Given the description of an element on the screen output the (x, y) to click on. 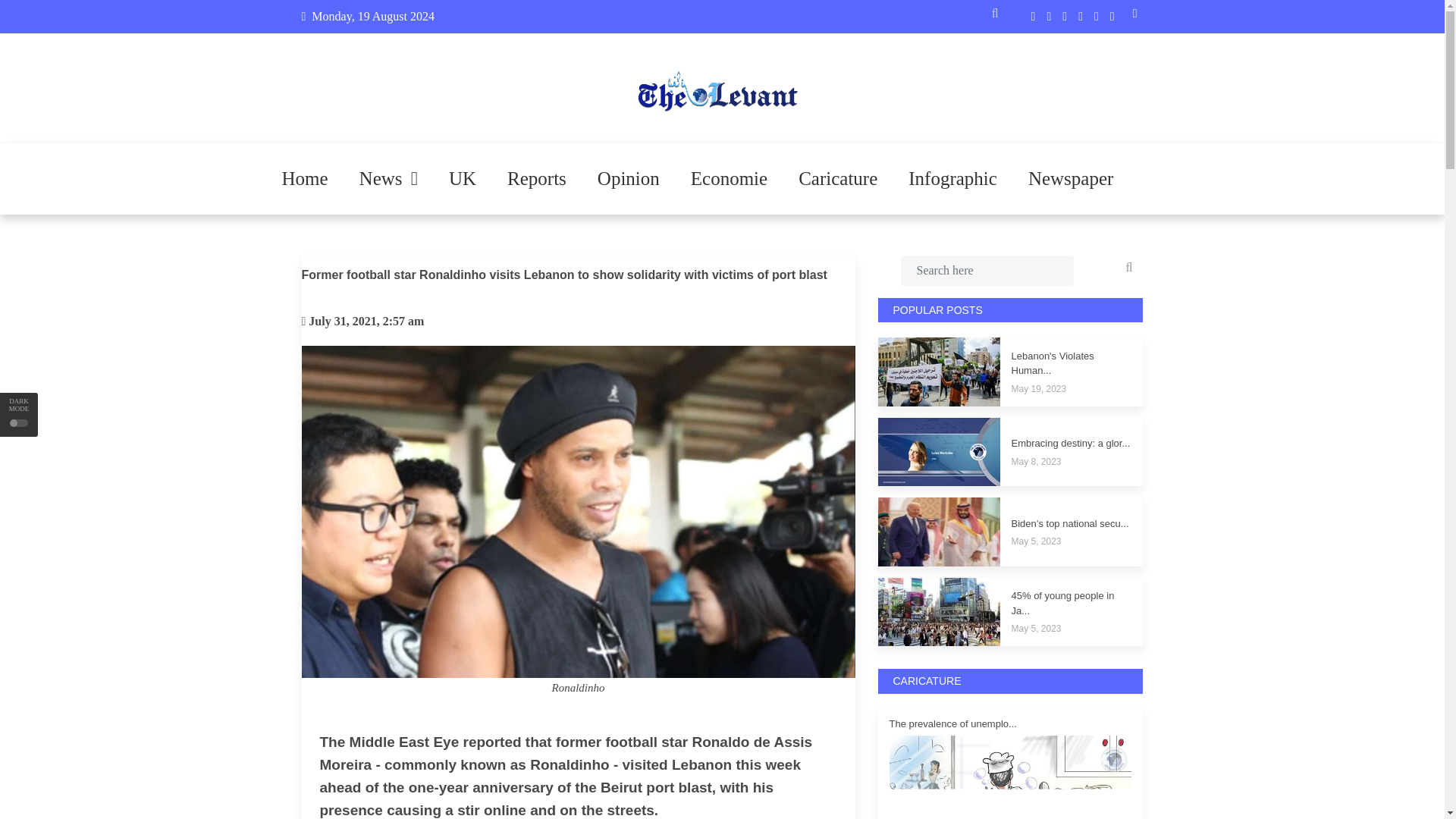
Economie (729, 178)
Reports (536, 178)
Home (304, 178)
Infographic (952, 178)
July 31, 2021, 2:57 am (365, 320)
Opinion (628, 178)
UK (462, 178)
Newspaper (1070, 178)
News (387, 178)
Caricature (837, 178)
